Given the description of an element on the screen output the (x, y) to click on. 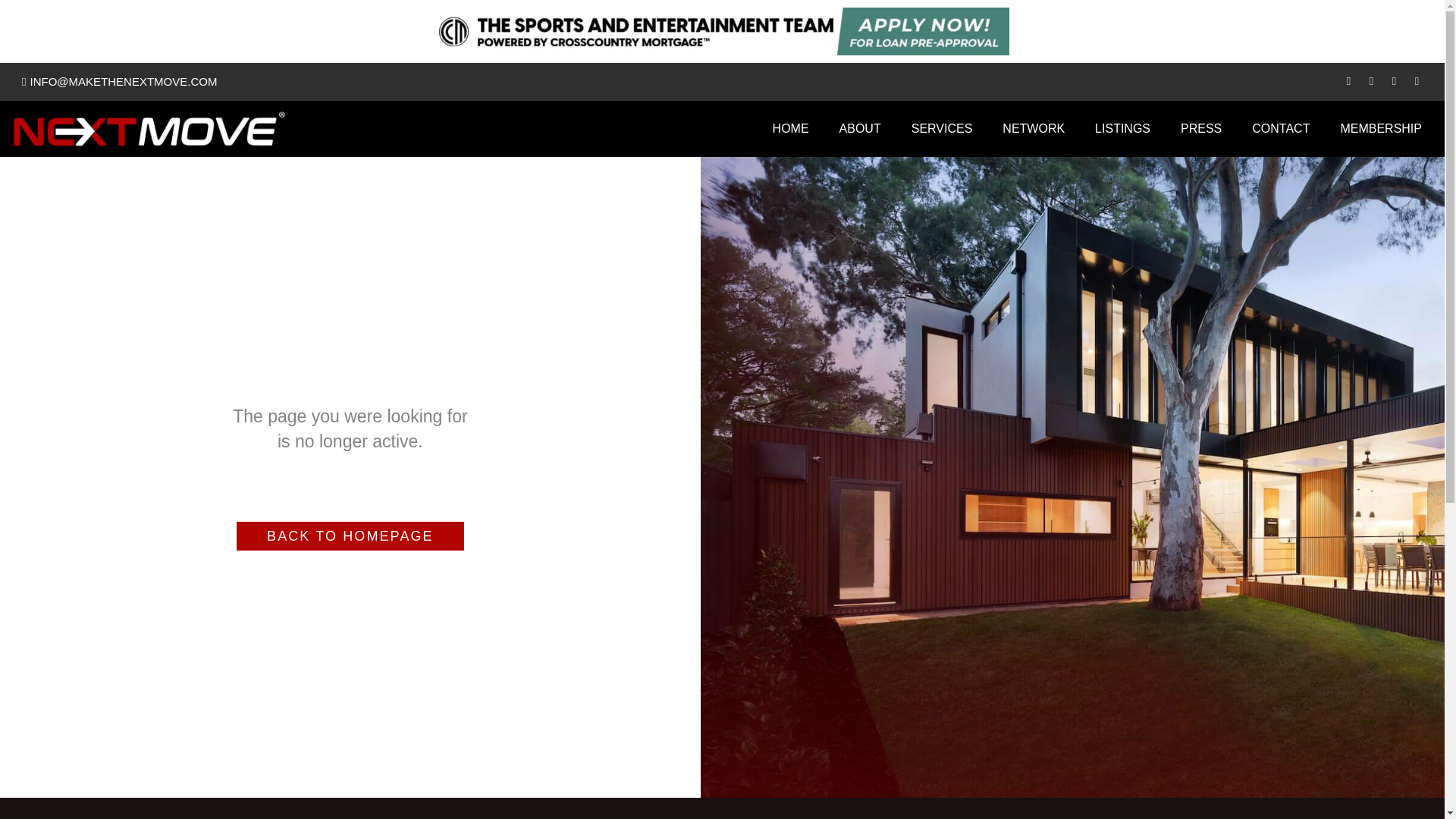
SERVICES (942, 127)
ABOUT (860, 127)
CONTACT (1280, 127)
Instagram (1348, 81)
HOME (790, 127)
Twitter (1394, 81)
NETWORK (1033, 127)
LISTINGS (1123, 127)
Linkedin (1416, 81)
PRESS (1201, 127)
BACK TO HOMEPAGE (349, 535)
MEMBERSHIP (1380, 127)
Facebook-f (1371, 81)
